Given the description of an element on the screen output the (x, y) to click on. 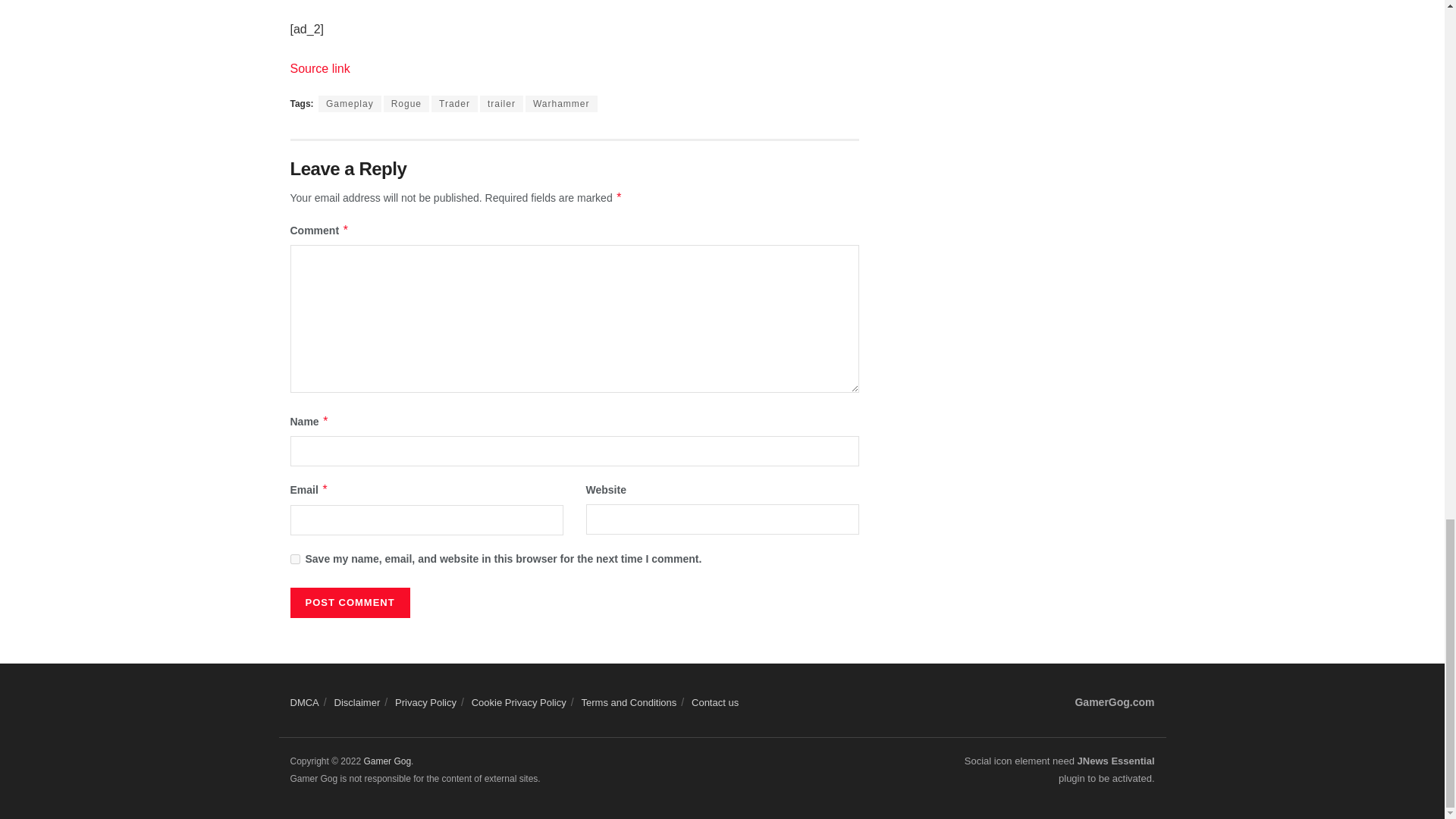
trailer (501, 103)
Gameplay (349, 103)
Post Comment (349, 603)
Trader (453, 103)
Warhammer (560, 103)
yes (294, 559)
Rogue (406, 103)
Source link (319, 68)
Gamer Gog (386, 760)
